Given the description of an element on the screen output the (x, y) to click on. 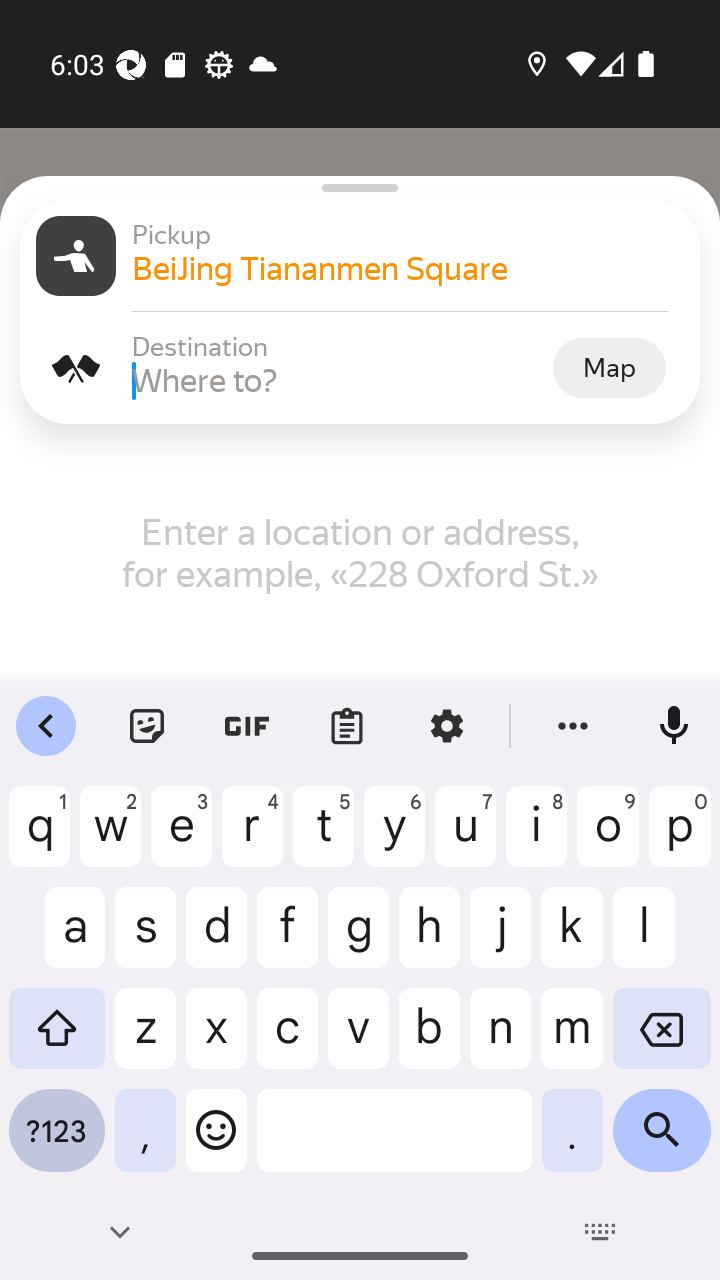
Pickup Pickup BeiJing Tiananmen Square (359, 255)
BeiJing Tiananmen Square (407, 268)
Destination Destination Where to? Map (359, 367)
Map (609, 367)
Where to? (340, 380)
